Given the description of an element on the screen output the (x, y) to click on. 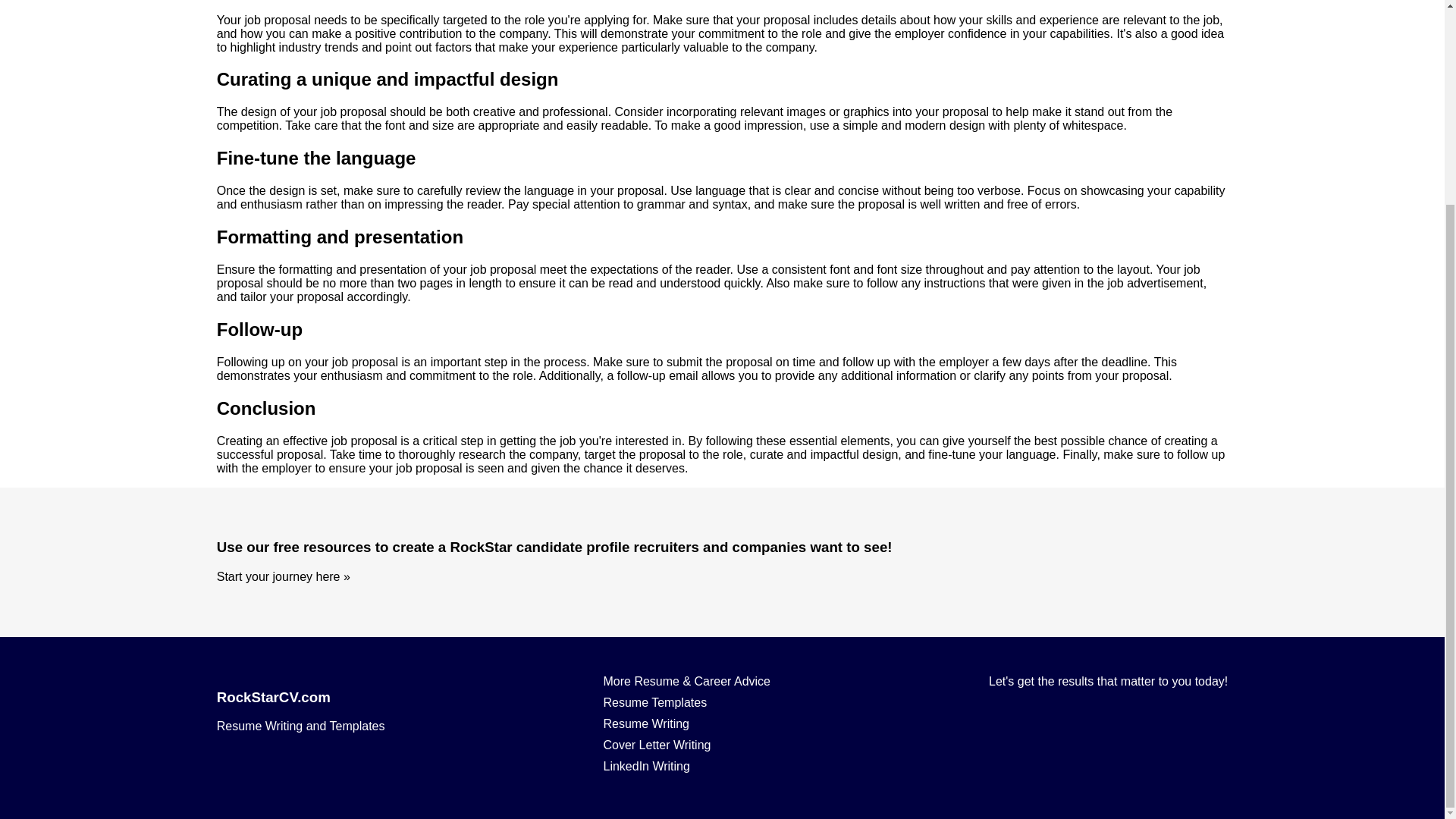
RockStarCV.com (300, 697)
Cover Letter Writing (686, 745)
LinkedIn Writing (686, 766)
Resume Writing (686, 724)
Resume Templates (686, 703)
